Given the description of an element on the screen output the (x, y) to click on. 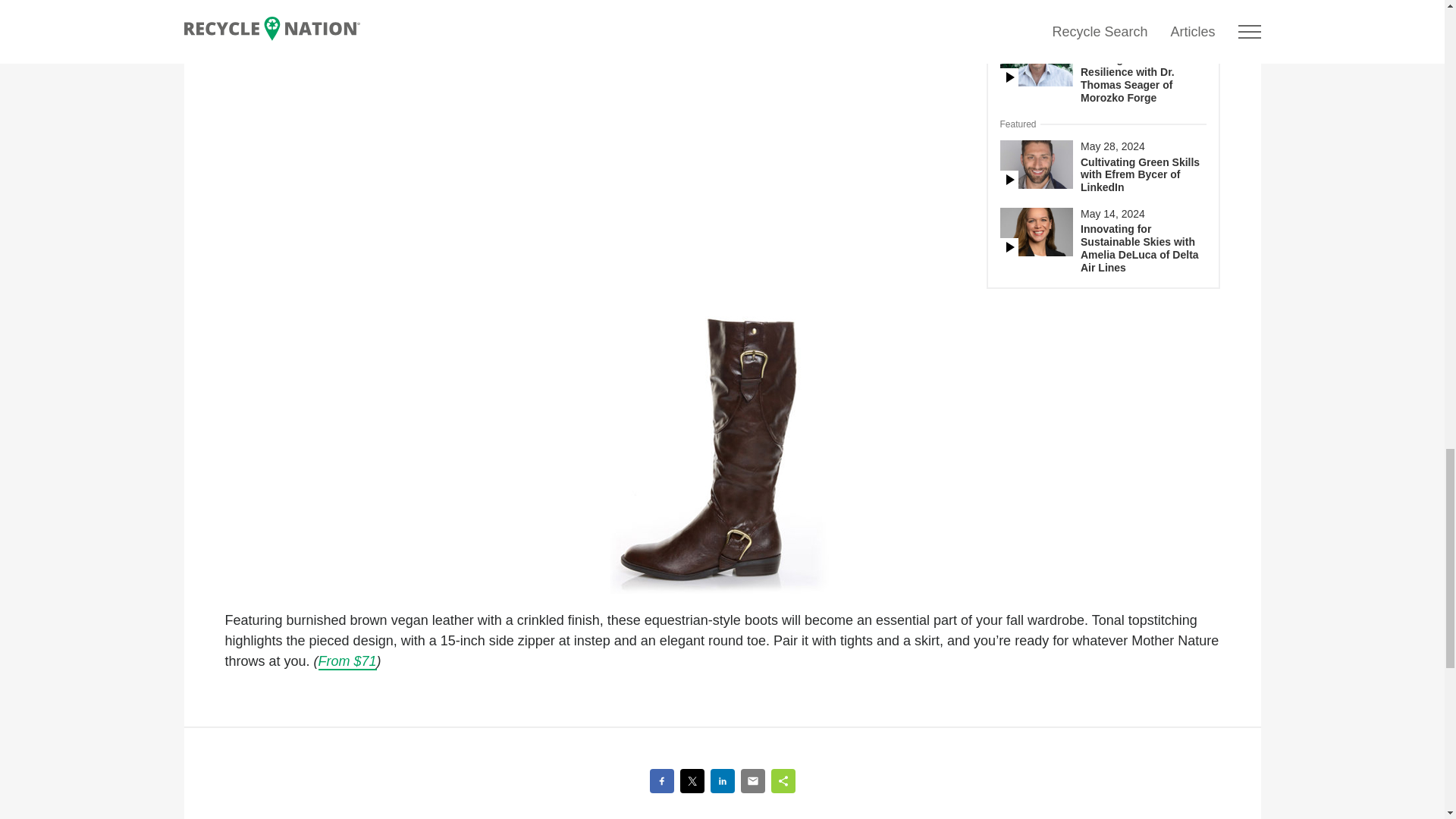
gomax-concorde-riding-boots (722, 454)
